Given the description of an element on the screen output the (x, y) to click on. 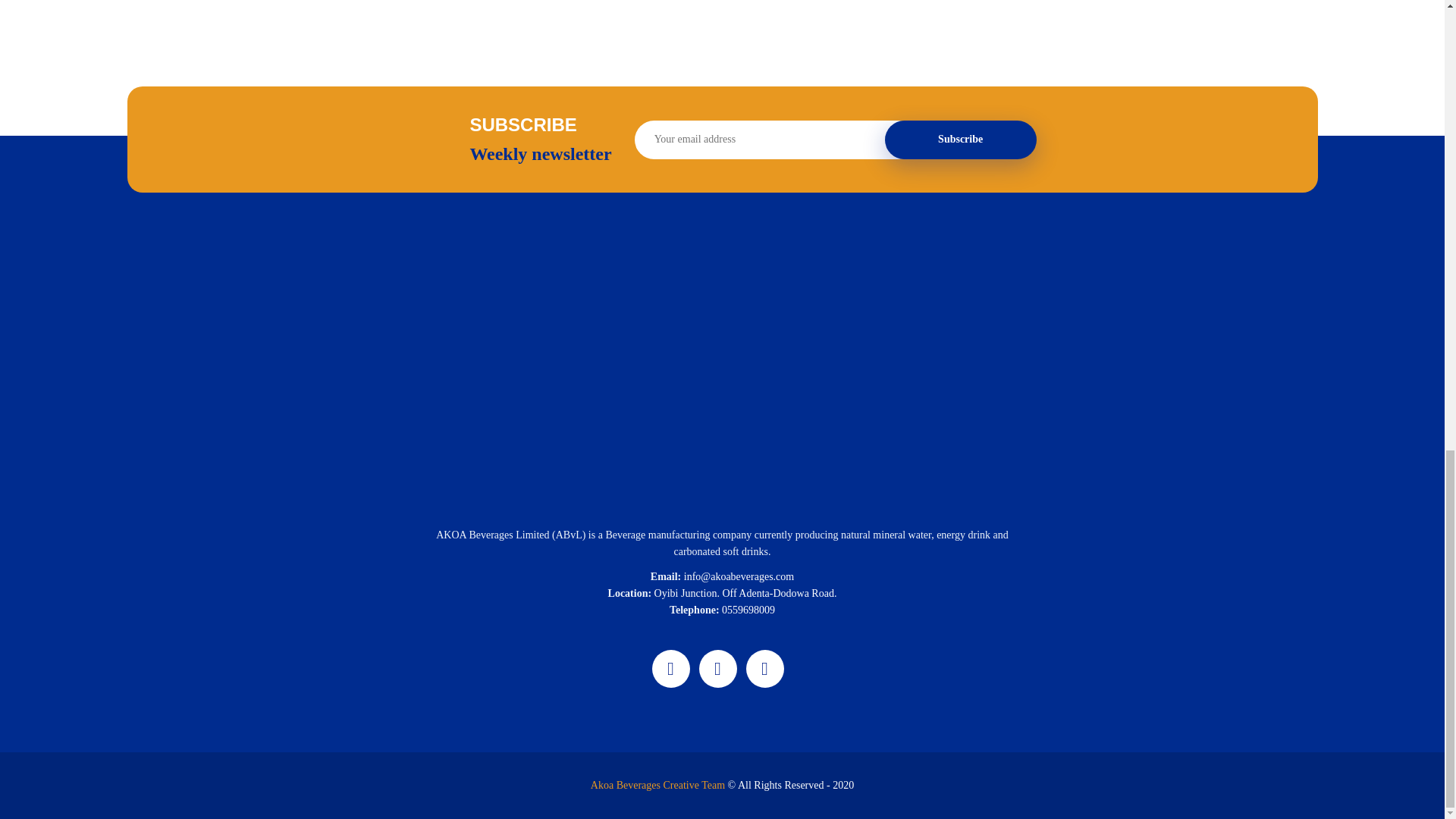
Subscribe (960, 139)
0559698009 (748, 609)
Oyibi Junction. Off Adenta-Dodowa Road (743, 593)
Akoa Beverages (627, 785)
Creative Team (693, 785)
